Given the description of an element on the screen output the (x, y) to click on. 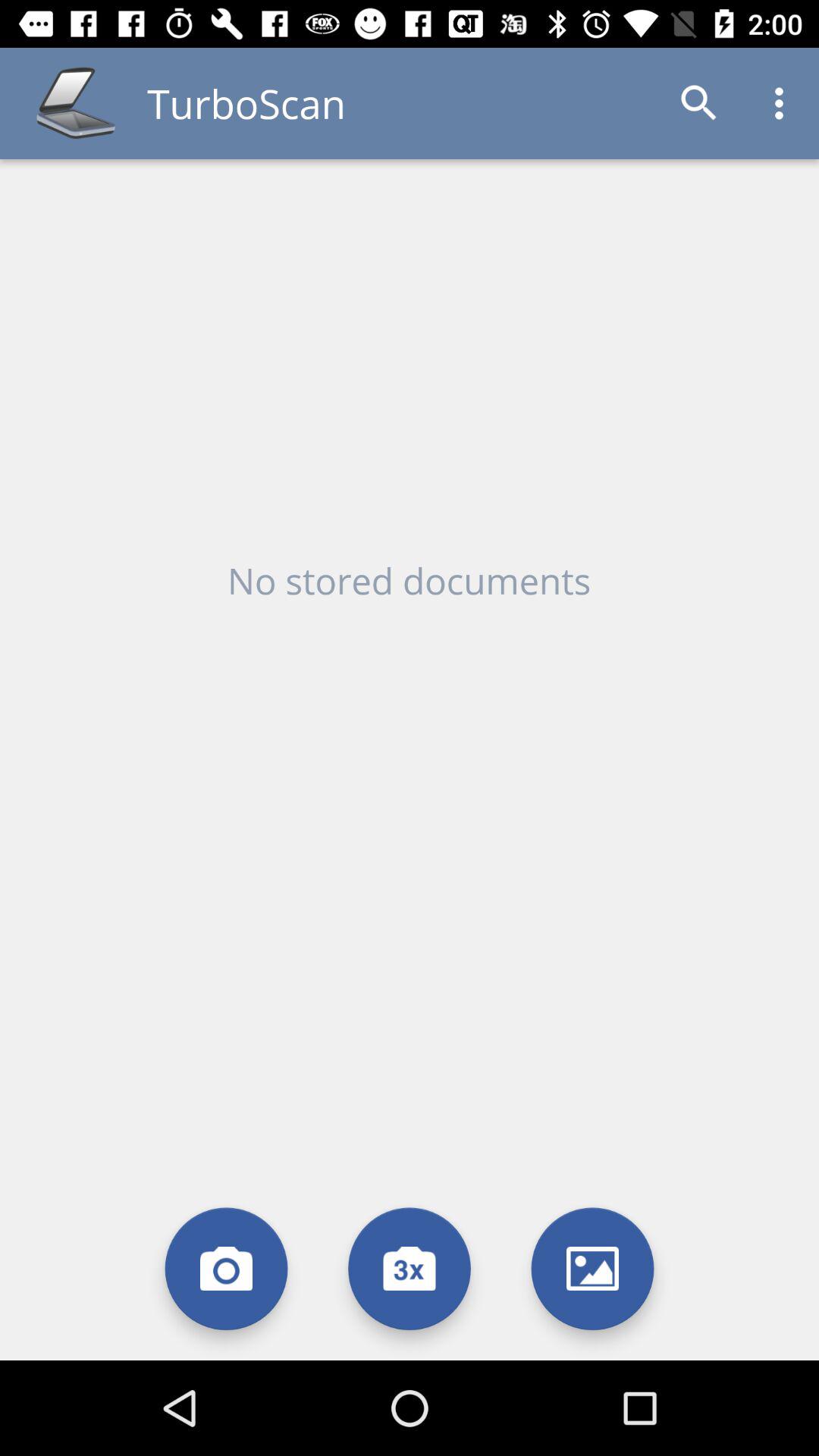
select icon below the no stored documents (592, 1268)
